Given the description of an element on the screen output the (x, y) to click on. 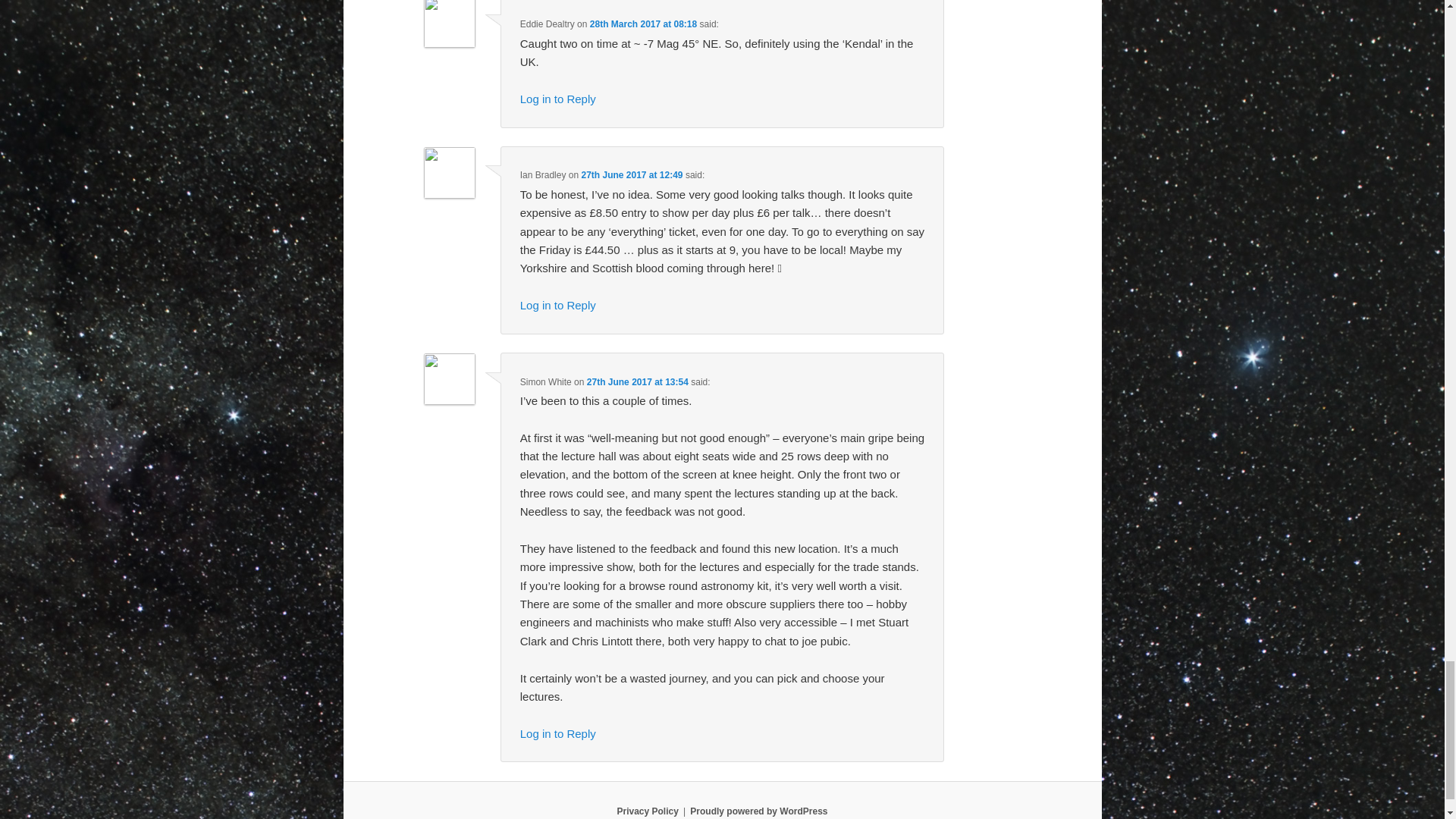
Semantic Personal Publishing Platform (758, 810)
